Given the description of an element on the screen output the (x, y) to click on. 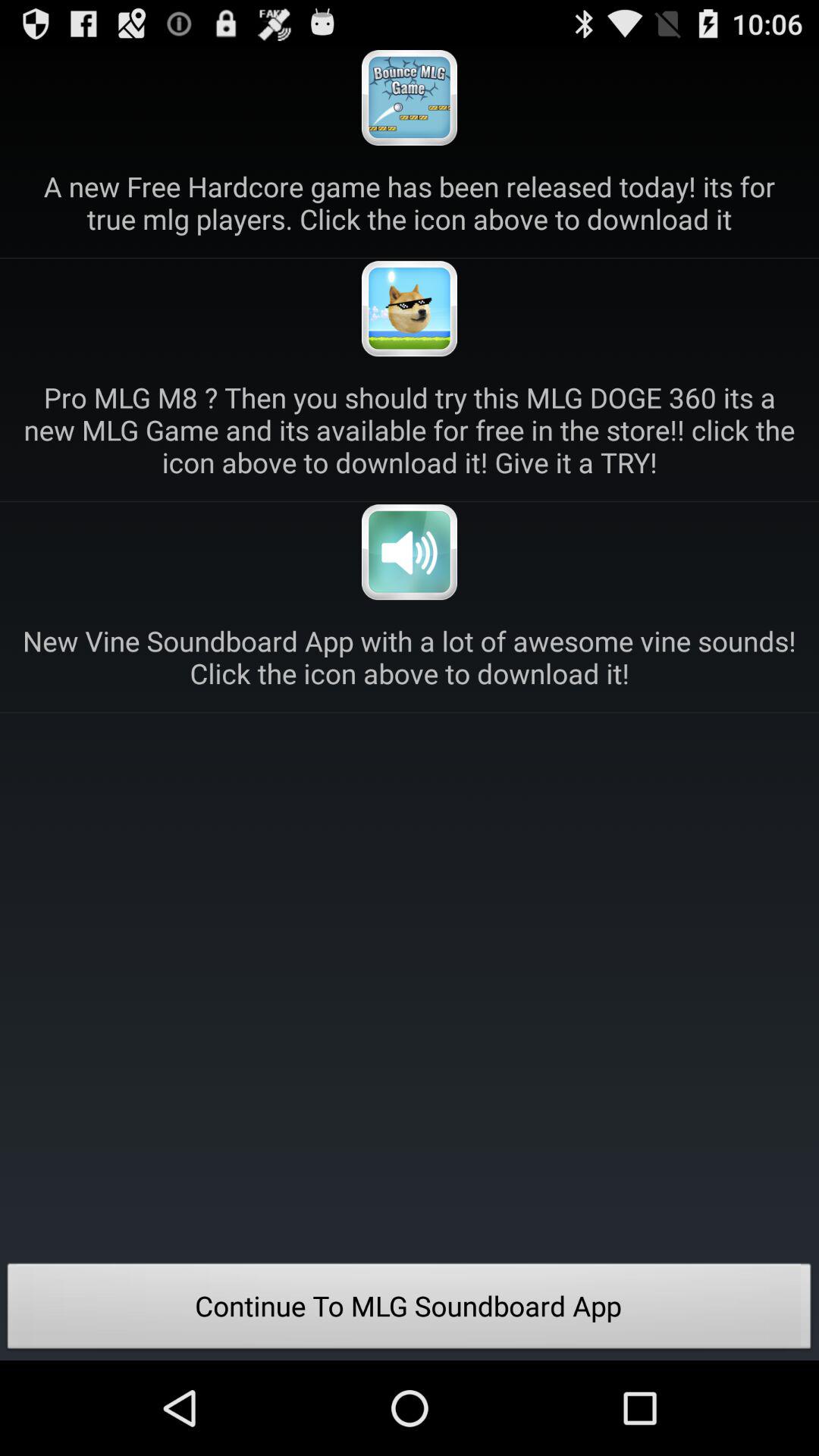
click for dog sound (409, 308)
